Given the description of an element on the screen output the (x, y) to click on. 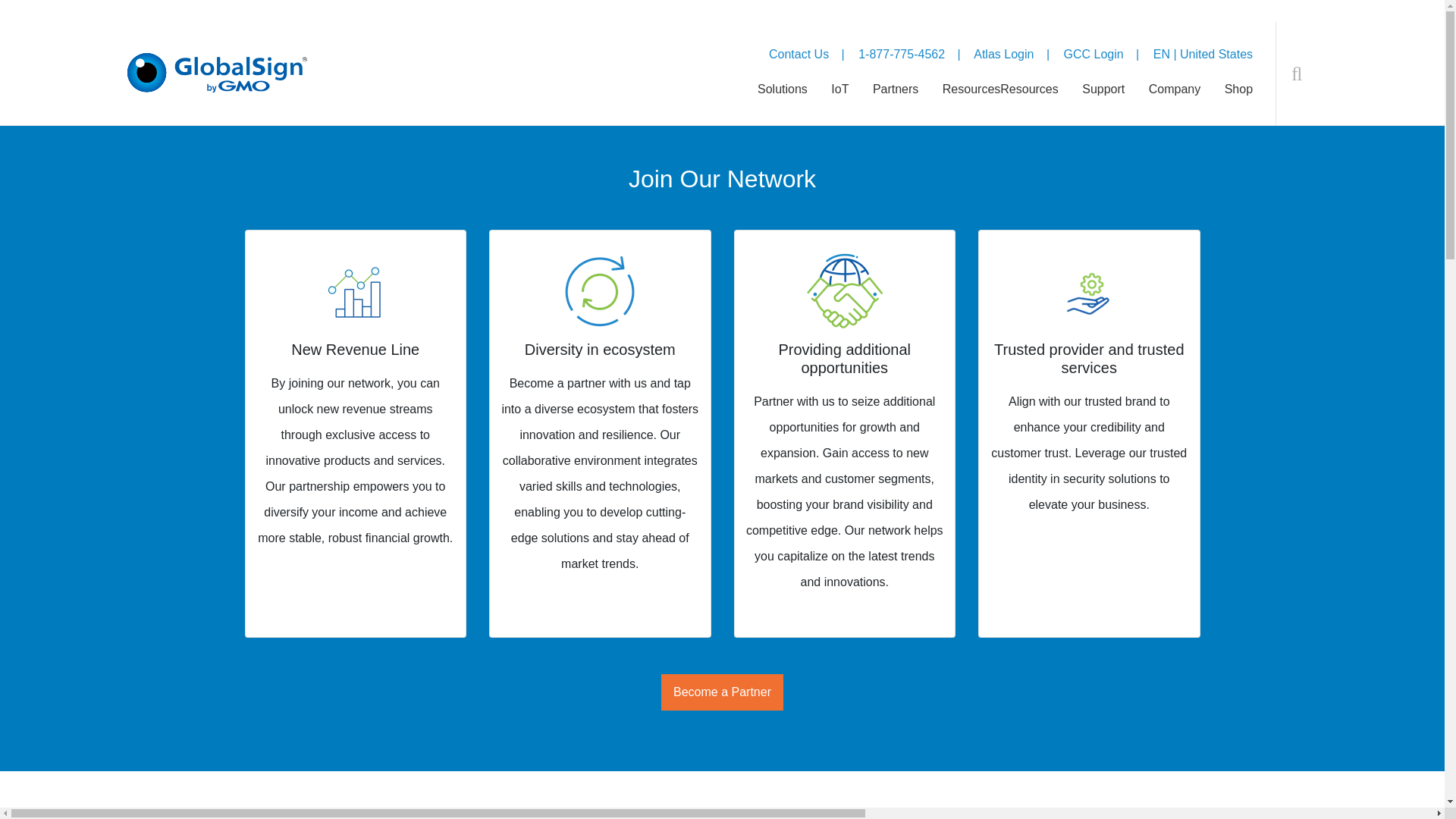
GCC Login (1092, 53)
Solutions (782, 103)
Contact Us (798, 53)
1-877-775-4562 (901, 53)
Atlas Login (1003, 53)
